Given the description of an element on the screen output the (x, y) to click on. 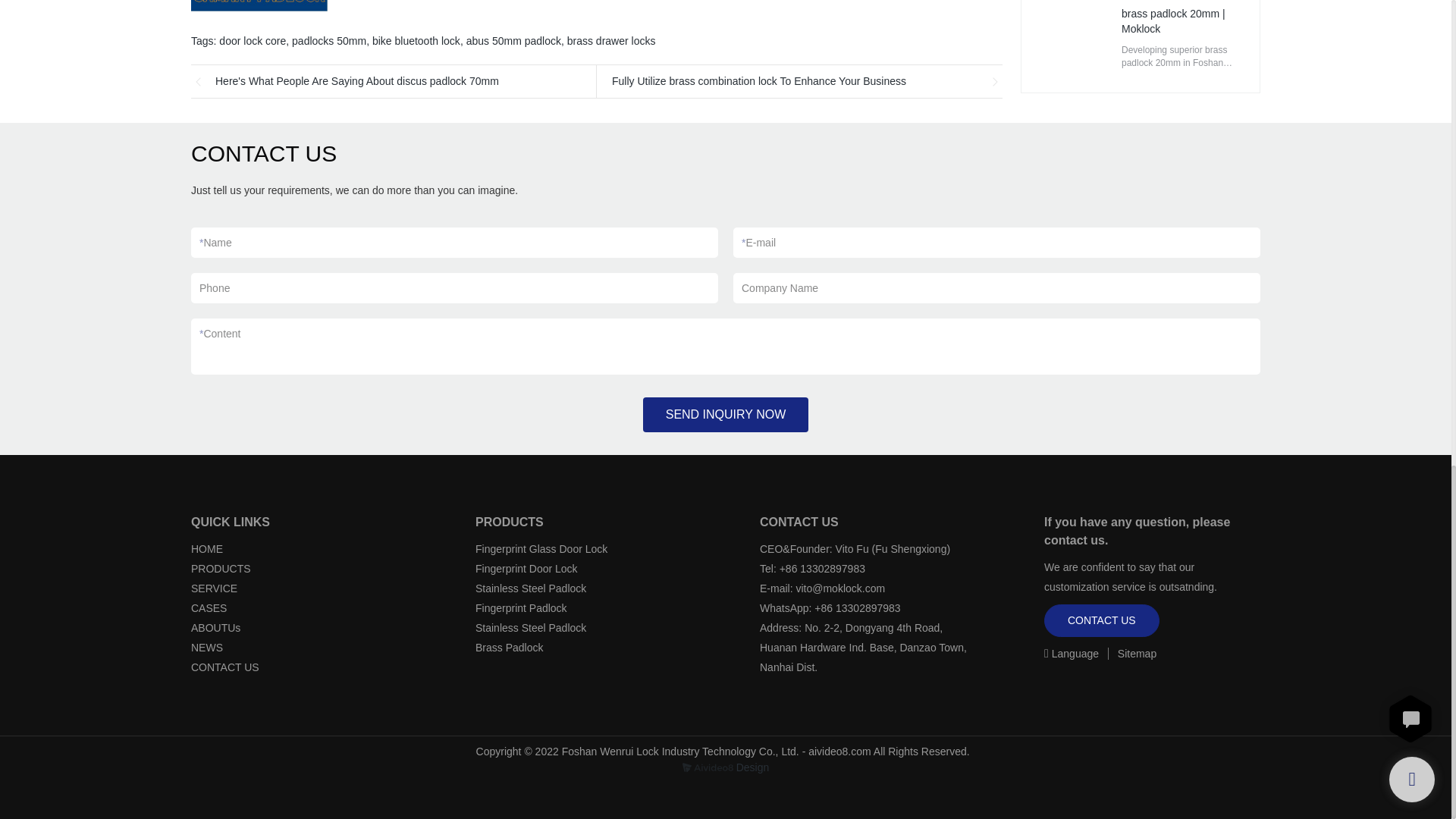
padlocks 50mm (329, 40)
door lock core (252, 40)
bike bluetooth lock (416, 40)
